Given the description of an element on the screen output the (x, y) to click on. 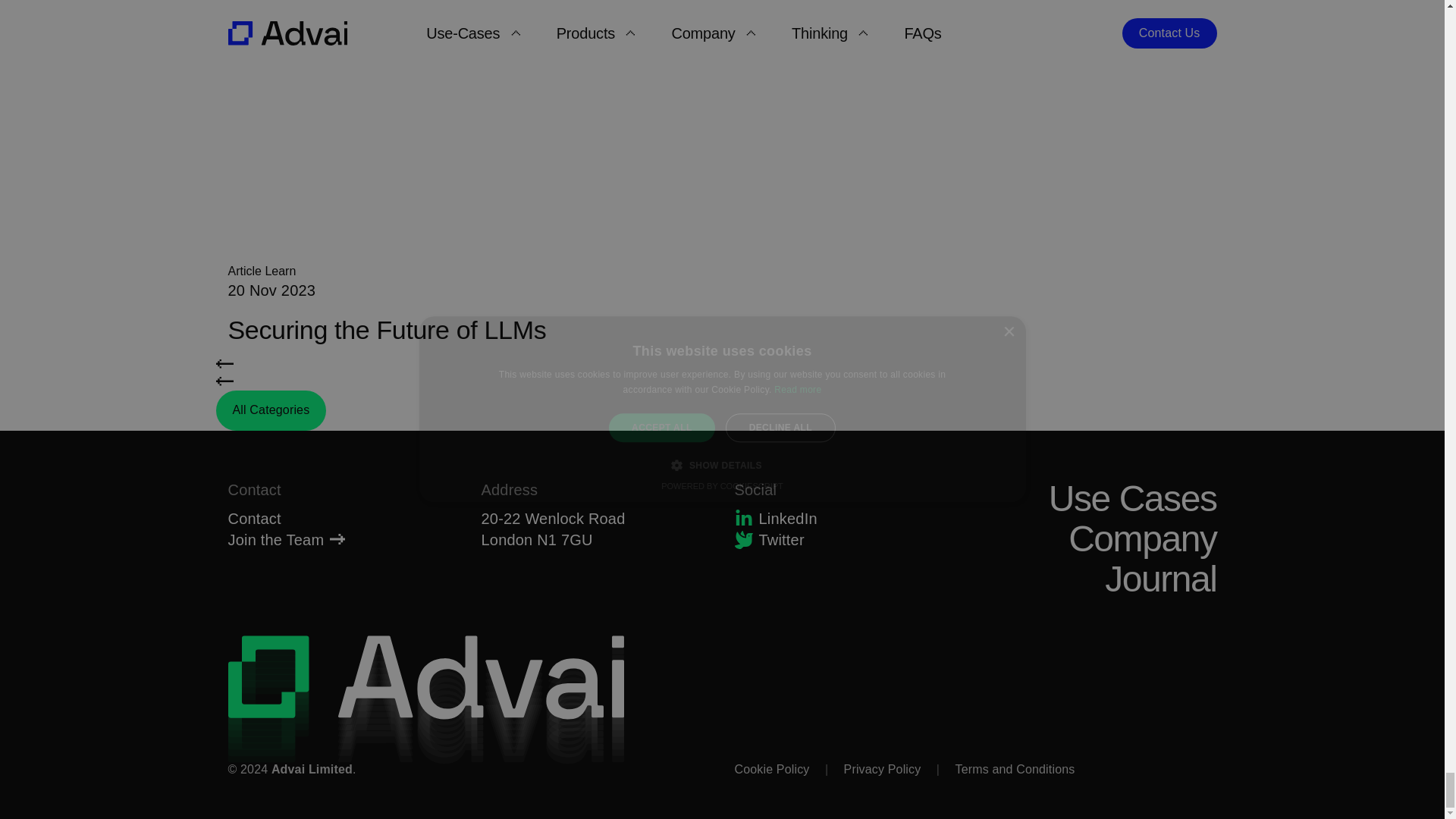
Twitter (844, 539)
Advai (425, 702)
Terms and Conditions (1014, 768)
LinkedIn (844, 518)
Privacy Policy (883, 768)
Cookie Policy (778, 768)
